Given the description of an element on the screen output the (x, y) to click on. 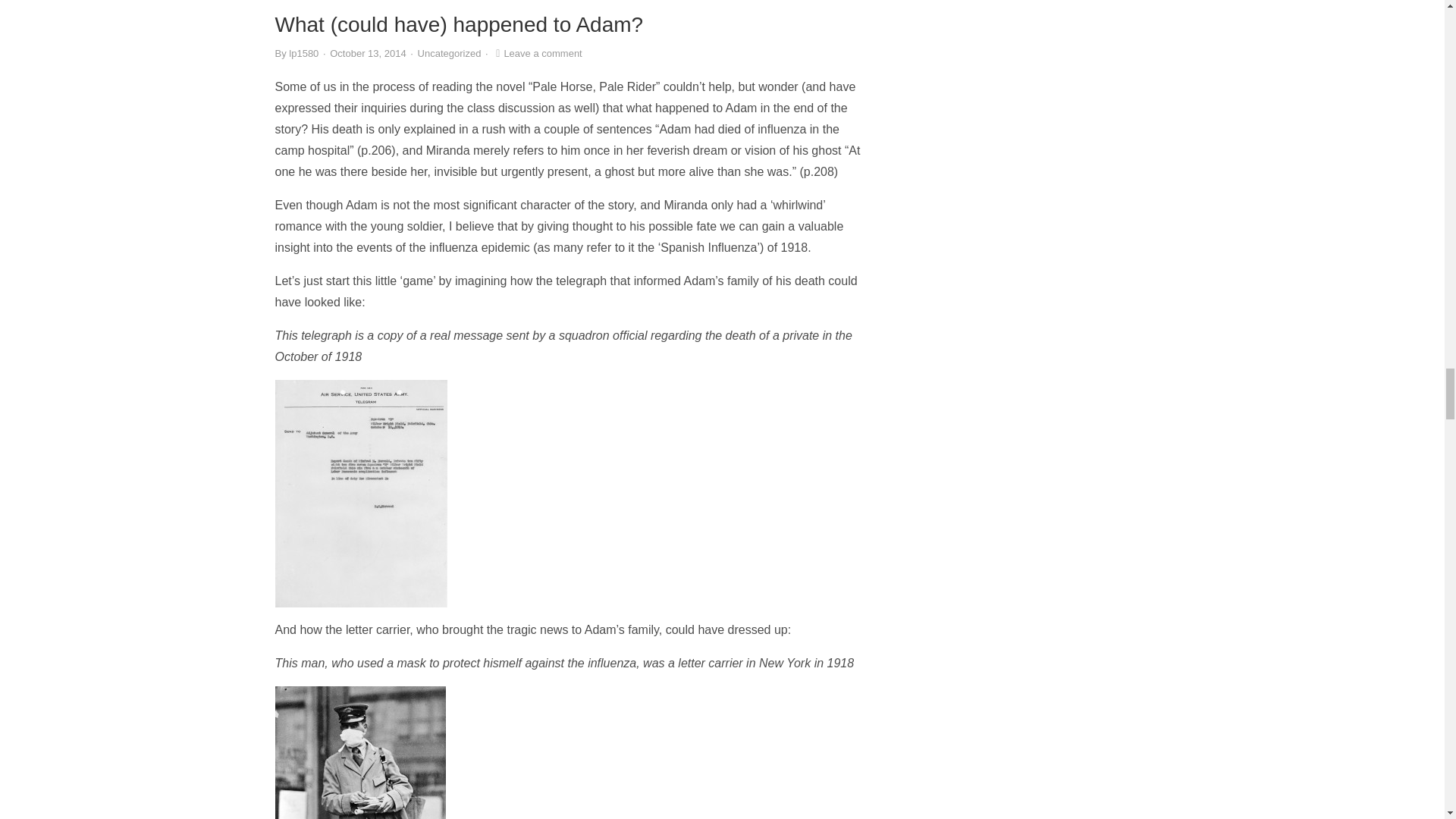
lp1580 (303, 52)
Uncategorized (449, 52)
Posts by lp1580 (303, 52)
Leave a comment (536, 52)
